Given the description of an element on the screen output the (x, y) to click on. 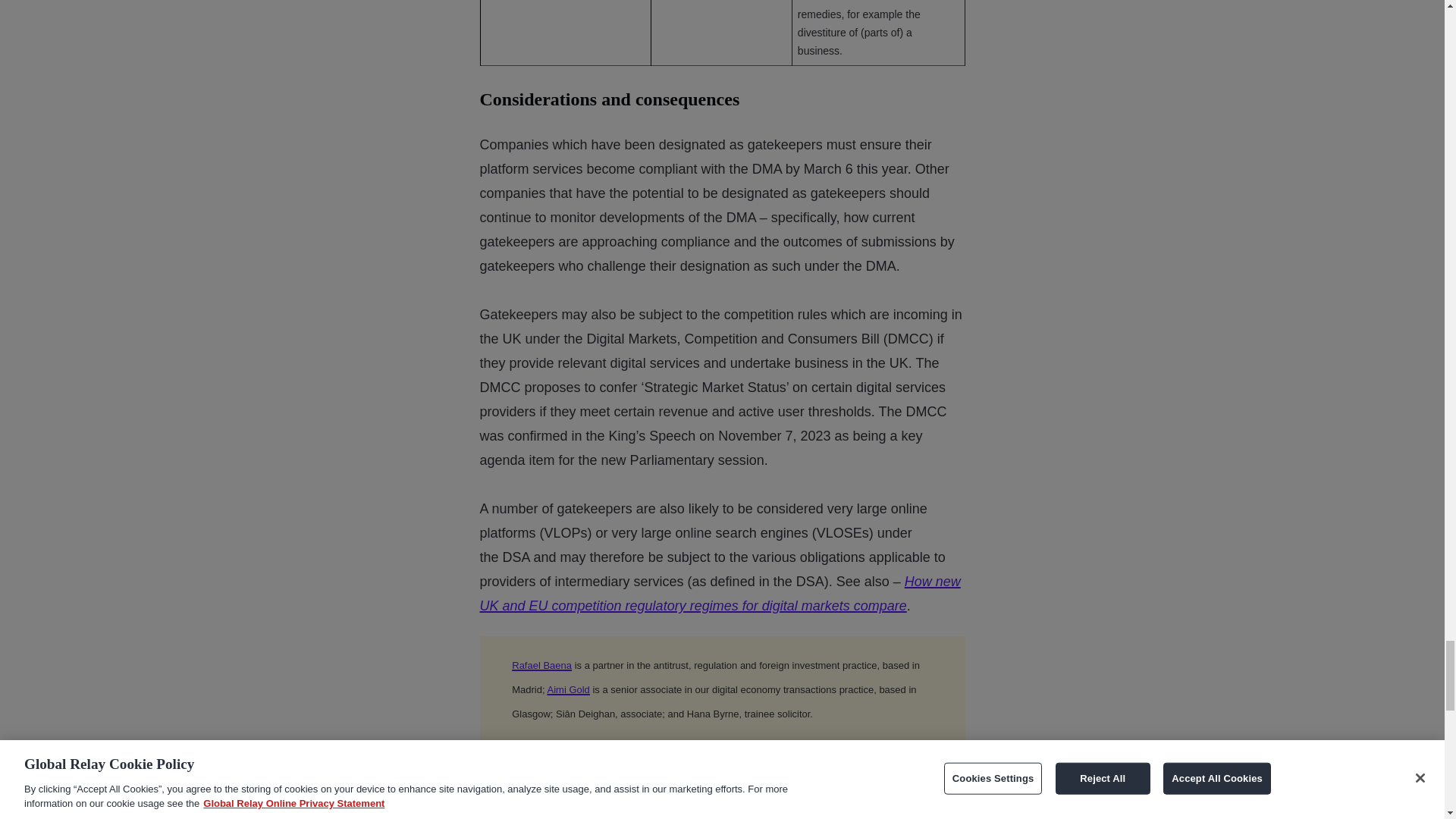
Aimi Gold (568, 689)
Rafael Baena (542, 665)
